Given the description of an element on the screen output the (x, y) to click on. 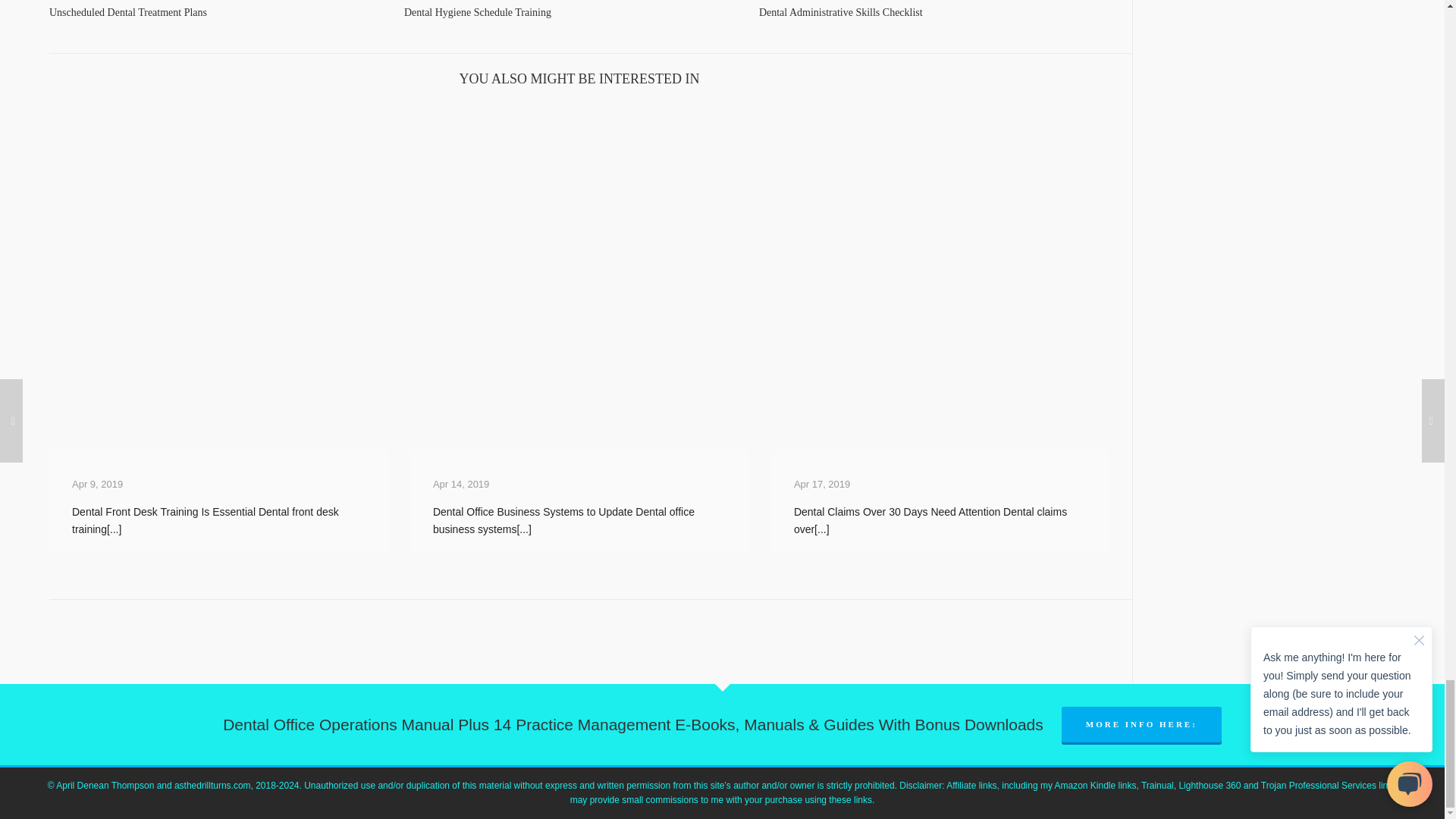
Dental Administrative Skills Checklist (928, 2)
Unscheduled Dental Treatment Plans (127, 12)
Dental Hygiene Schedule Training (574, 2)
Unscheduled Dental Treatment Plans (218, 2)
Dental Administrative Skills Checklist (840, 12)
Dental Hygiene Schedule Training (477, 12)
